Given the description of an element on the screen output the (x, y) to click on. 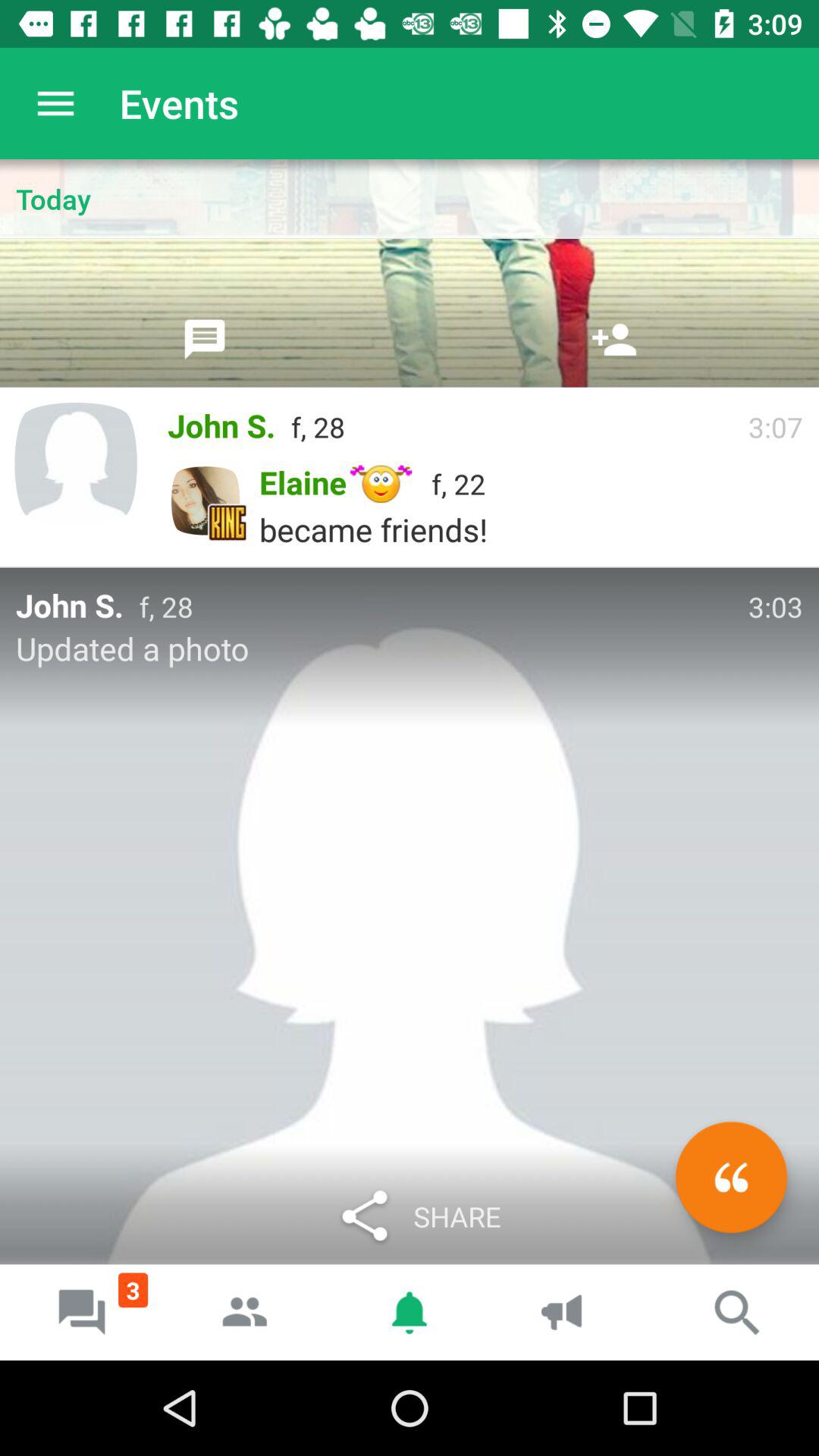
add person as friend (614, 339)
